Given the description of an element on the screen output the (x, y) to click on. 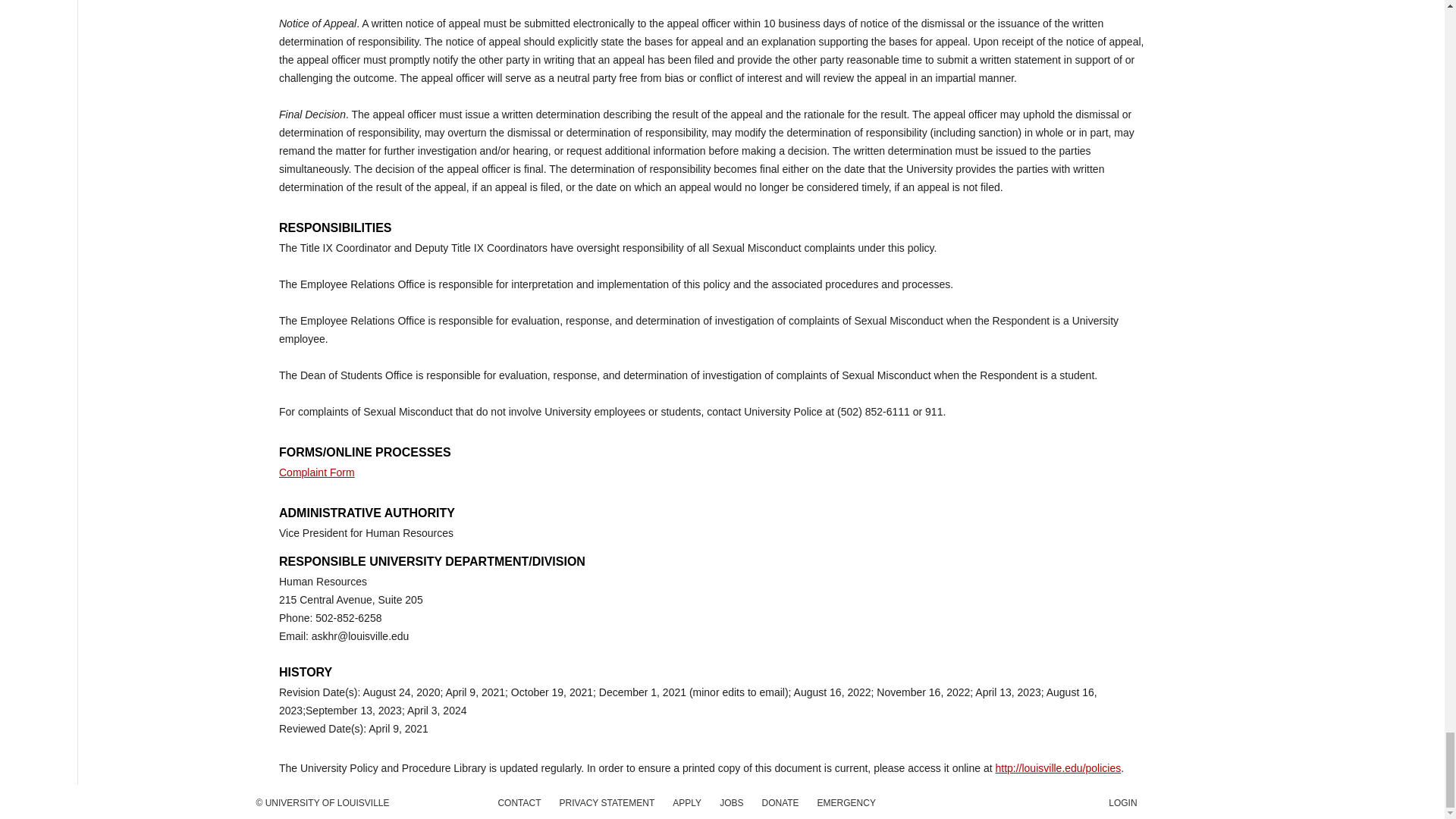
Go to louisville.edu (327, 802)
